Given the description of an element on the screen output the (x, y) to click on. 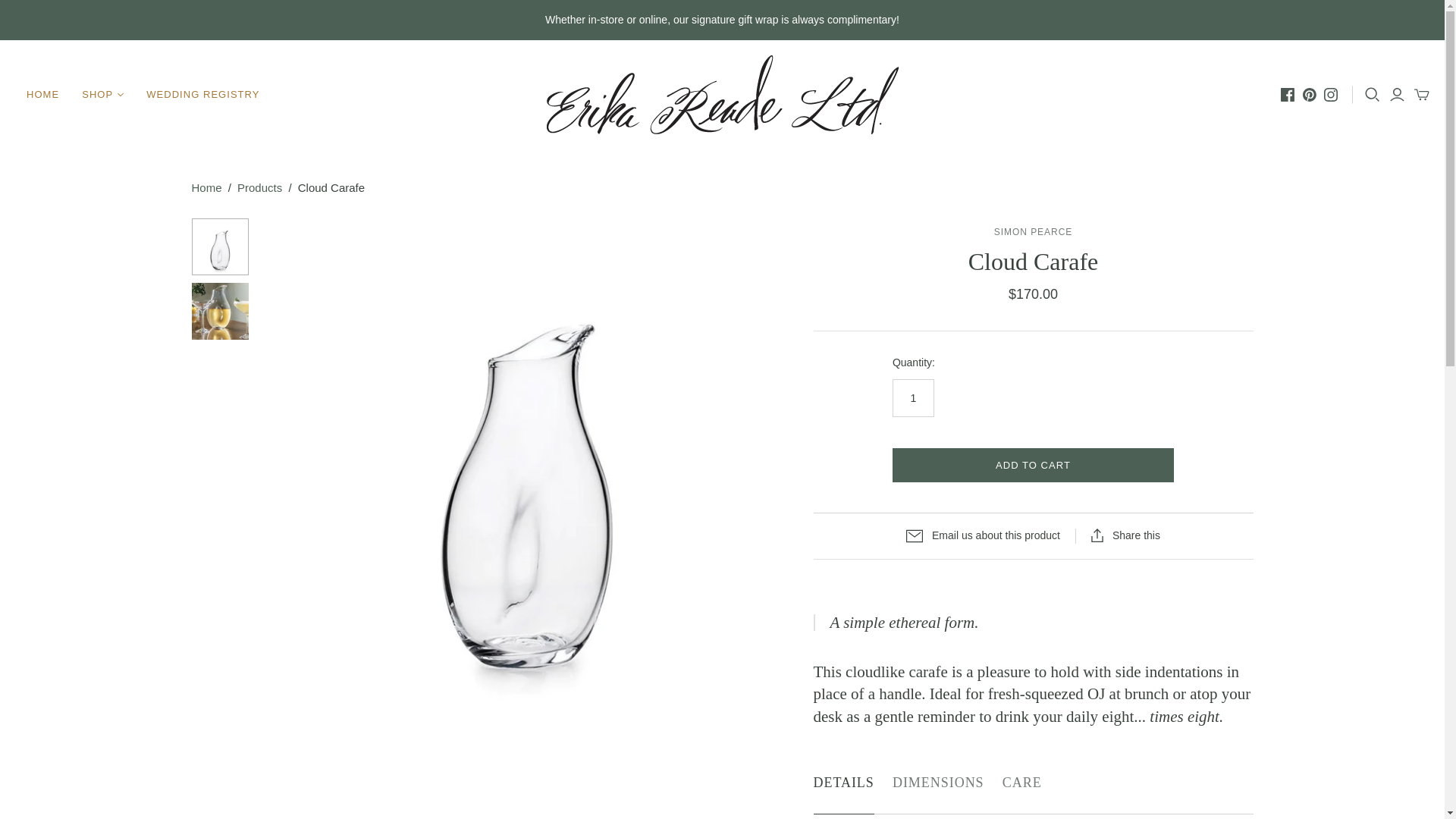
HOME (41, 94)
WEDDING REGISTRY (202, 94)
SHOP (102, 94)
Checkout (32, 9)
1 (913, 397)
